Given the description of an element on the screen output the (x, y) to click on. 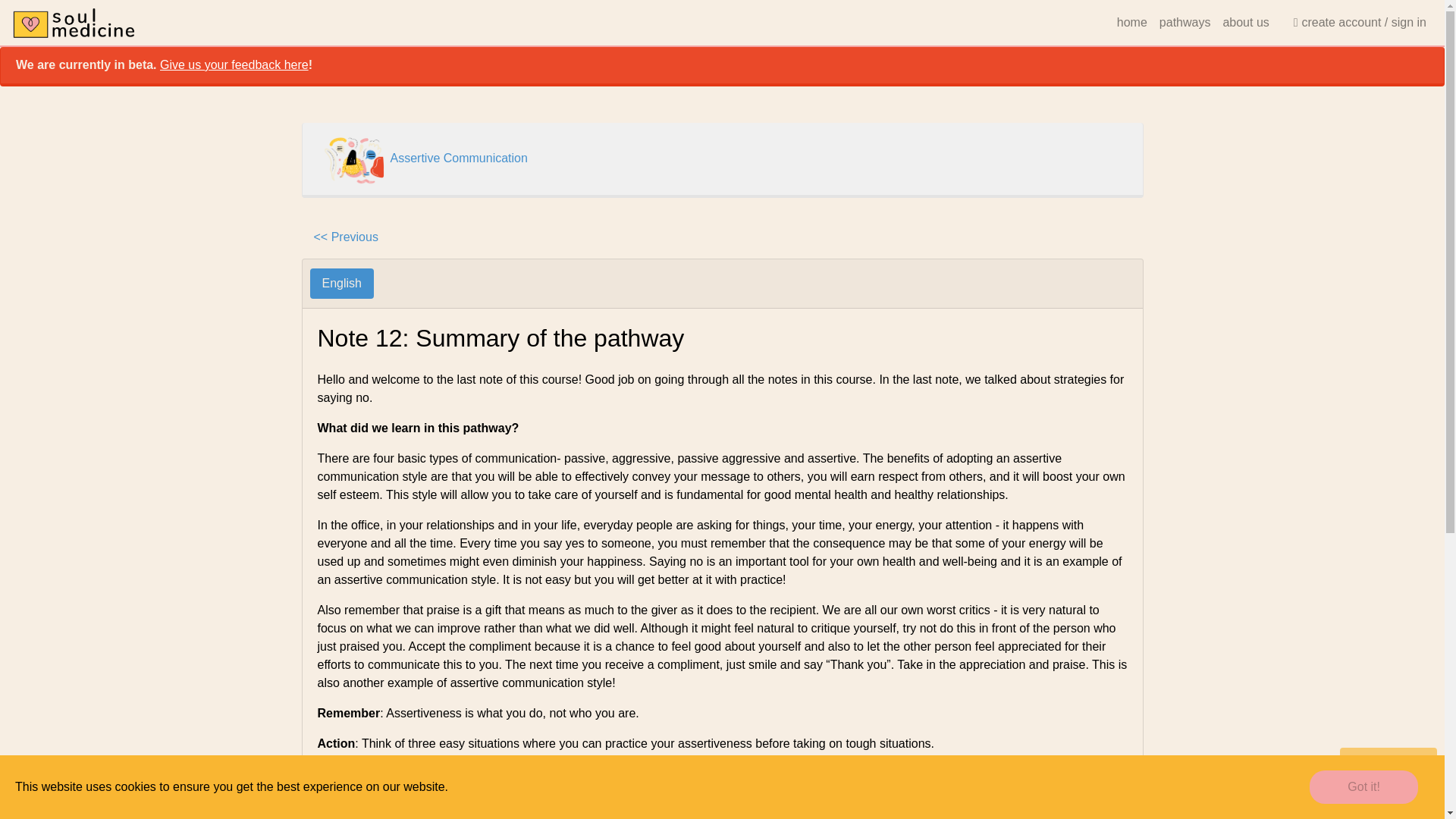
about us (1245, 22)
Give us your feedback here (234, 64)
home (1131, 22)
pathways (1185, 22)
Assertive Communication (458, 158)
LEAVE THIS SITE (1388, 760)
English (340, 283)
Got it! (1363, 786)
